Given the description of an element on the screen output the (x, y) to click on. 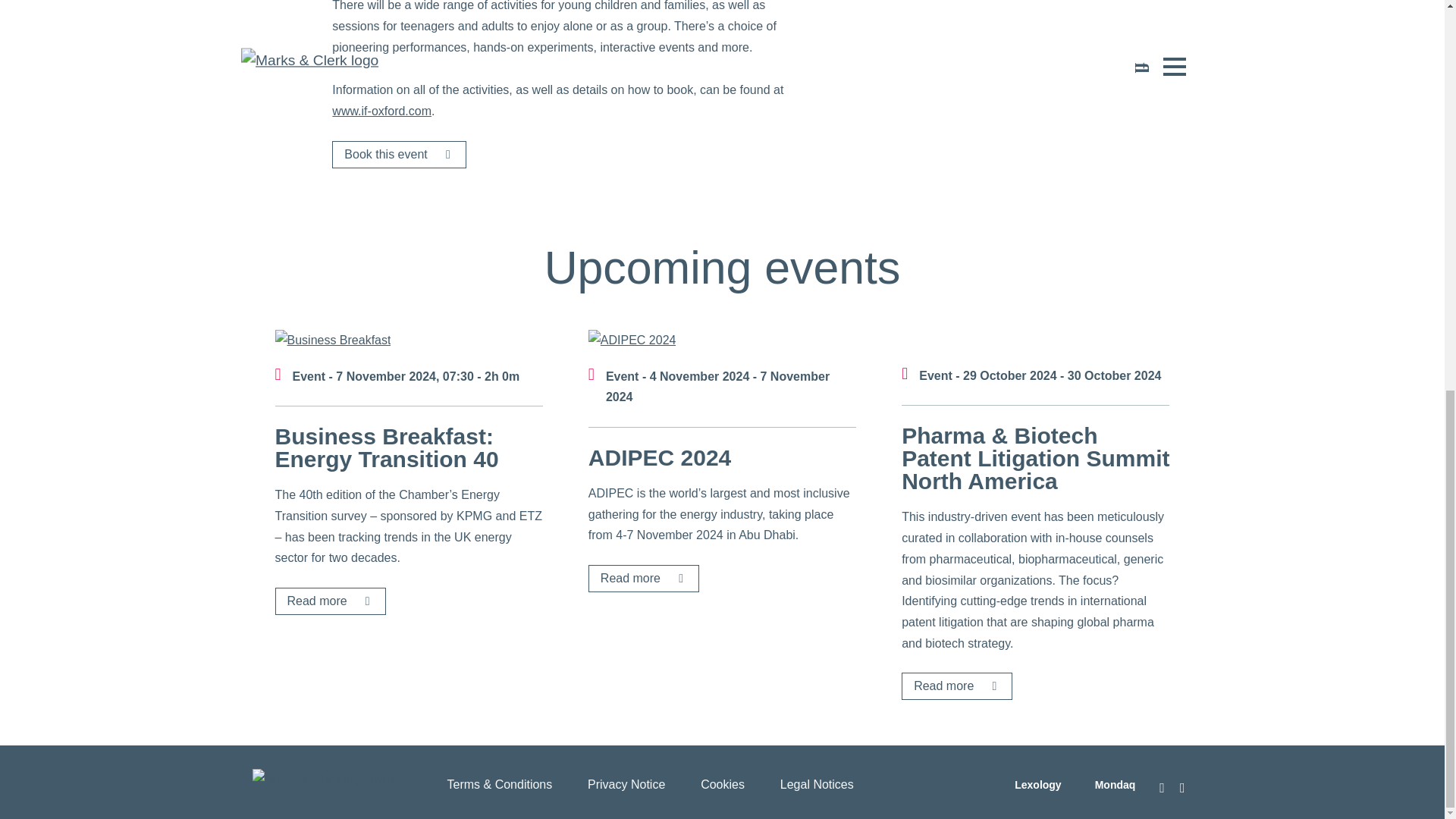
Book this event (398, 154)
undefined (332, 340)
undefined (632, 340)
